Given the description of an element on the screen output the (x, y) to click on. 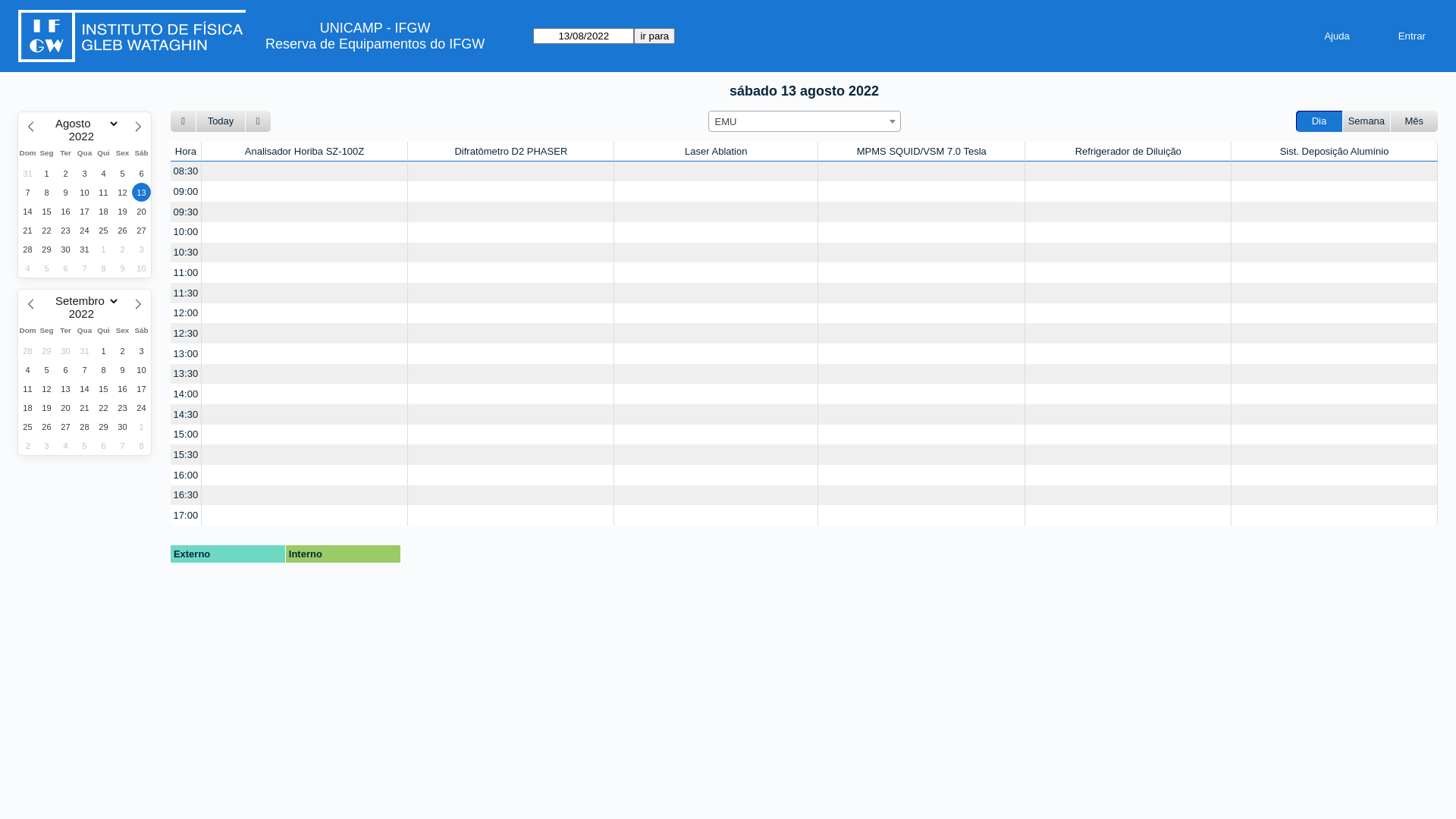
11:30 Element type: text (185, 292)
12:30 Element type: text (185, 332)
MPMS SQUID/VSM 7.0 Tesla Element type: text (921, 151)
Dia Element type: text (1319, 121)
14:30 Element type: text (185, 413)
16:30 Element type: text (185, 495)
12:00 Element type: text (185, 313)
13:30 Element type: text (185, 373)
13:00 Element type: text (185, 353)
Entrar Element type: text (1411, 36)
10:30 Element type: text (185, 252)
ir para Element type: text (653, 35)
15:30 Element type: text (185, 454)
Ir para Dia Seguinte Element type: hover (257, 121)
09:30 Element type: text (185, 211)
Ajuda Element type: text (1336, 36)
Reserva de Equipamentos do IFGW Element type: text (374, 44)
10:00 Element type: text (185, 231)
08:30 Element type: text (185, 171)
Laser Ablation Element type: text (715, 151)
Salvar Element type: text (20, 7)
Analisador Horiba SZ-100Z Element type: text (303, 151)
16:00 Element type: text (185, 474)
Semana Element type: text (1366, 121)
14:00 Element type: text (185, 393)
15:00 Element type: text (185, 434)
09:00 Element type: text (185, 191)
11:00 Element type: text (185, 272)
17:00 Element type: text (185, 514)
Today Element type: text (220, 121)
Ir para Dia Anterior Element type: hover (183, 121)
